Given the description of an element on the screen output the (x, y) to click on. 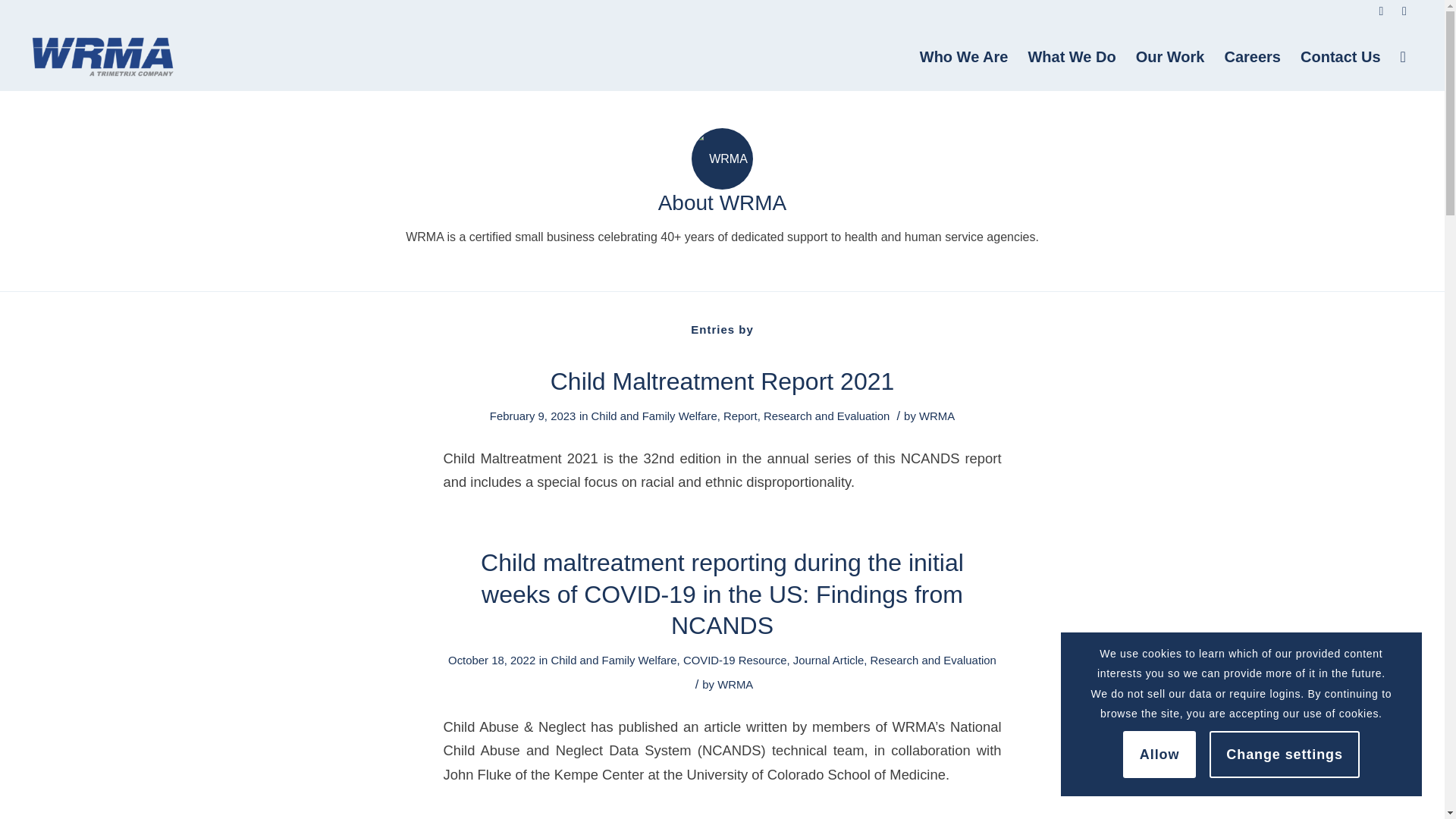
Permanent Link: Child Maltreatment Report 2021 (722, 380)
Careers (1252, 56)
Our Work (1169, 56)
LinkedIn (1380, 11)
Contact Us (1340, 56)
What We Do (1071, 56)
Who We Are (963, 56)
Posts by WRMA (936, 416)
Mail (1404, 11)
